Given the description of an element on the screen output the (x, y) to click on. 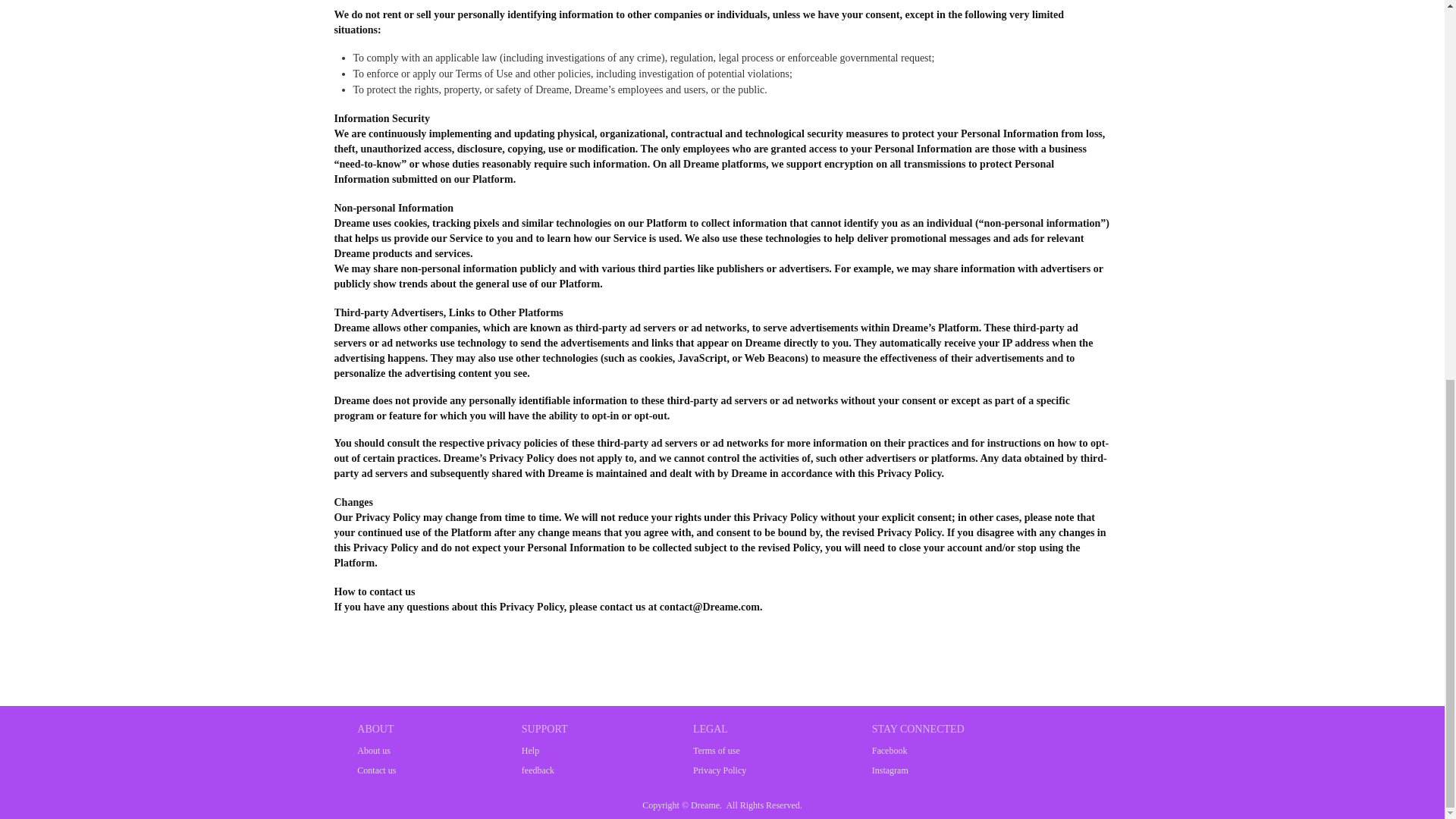
Instagram (917, 770)
Facebook (917, 750)
feedback (544, 770)
Contact us (376, 770)
Terms of use (719, 750)
About us (376, 750)
Privacy Policy (719, 770)
Help (544, 750)
